Given the description of an element on the screen output the (x, y) to click on. 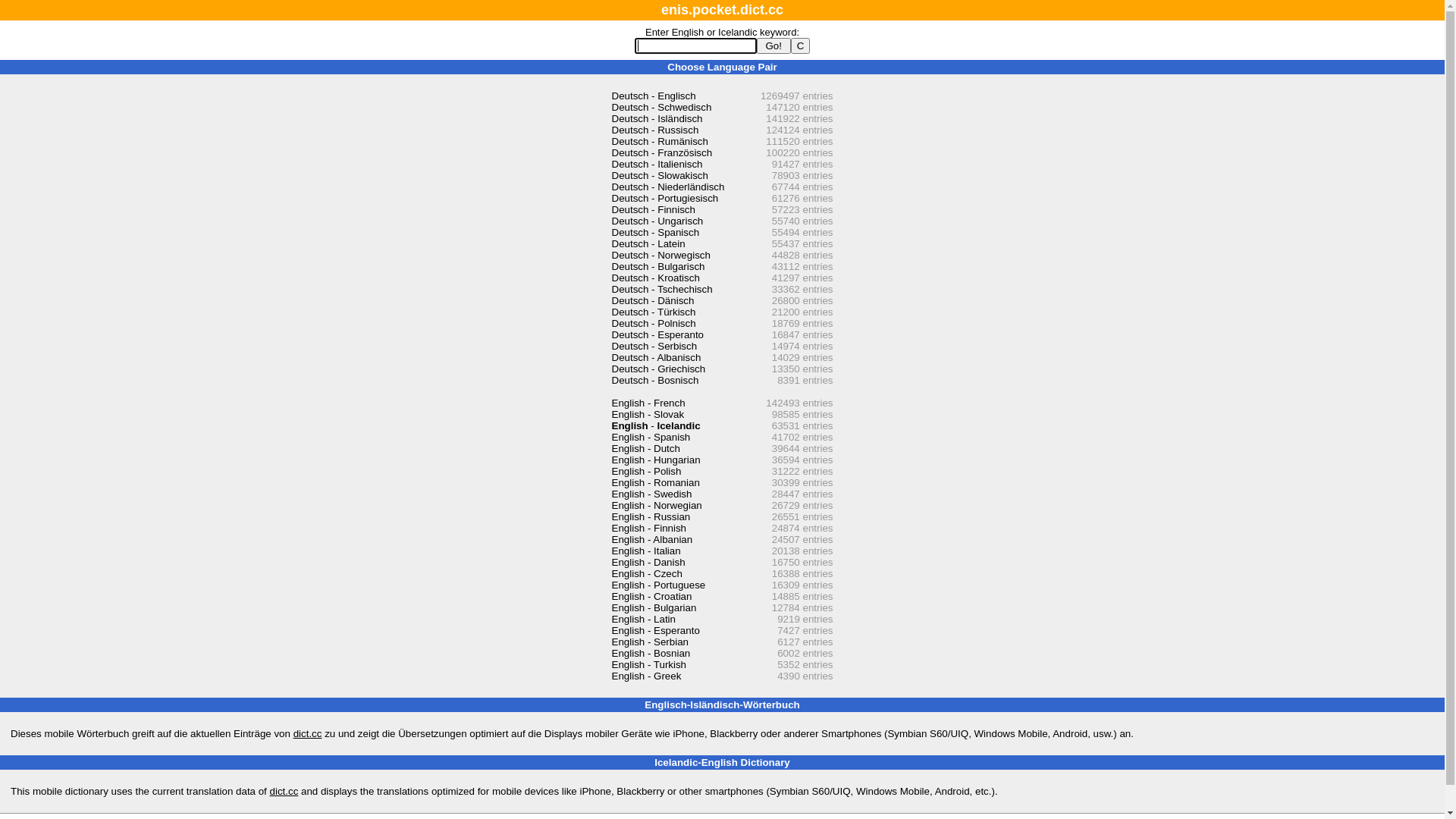
English - Italian Element type: text (645, 550)
Deutsch - Kroatisch Element type: text (655, 277)
Deutsch - Slowakisch Element type: text (659, 175)
Deutsch - Finnisch Element type: text (652, 209)
English - Turkish Element type: text (648, 664)
English - Hungarian Element type: text (655, 459)
Deutsch - Griechisch Element type: text (658, 368)
English - Polish Element type: text (645, 470)
Deutsch - Bulgarisch Element type: text (657, 266)
Deutsch - Italienisch Element type: text (656, 163)
Deutsch - Latein Element type: text (647, 243)
English - Romanian Element type: text (655, 482)
Deutsch - Serbisch Element type: text (653, 345)
English - Dutch Element type: text (645, 448)
Deutsch - Englisch Element type: text (653, 95)
English - Albanian Element type: text (651, 539)
dict.cc Element type: text (283, 791)
Deutsch - Portugiesisch Element type: text (664, 197)
English - Esperanto Element type: text (655, 630)
English - Czech Element type: text (646, 573)
Deutsch - Russisch Element type: text (654, 129)
 Go!  Element type: text (773, 45)
Deutsch - Norwegisch Element type: text (660, 254)
English - Bosnian Element type: text (650, 652)
English - Norwegian Element type: text (656, 505)
English - Greek Element type: text (645, 675)
English - Portuguese Element type: text (658, 584)
Deutsch - Bosnisch Element type: text (654, 379)
enis.pocket.dict.cc Element type: text (722, 9)
English - French Element type: text (647, 402)
C Element type: text (800, 45)
English - Icelandic Element type: text (655, 425)
English - Croatian Element type: text (651, 596)
Deutsch - Spanisch Element type: text (655, 232)
English - Slovak Element type: text (647, 414)
Deutsch - Albanisch Element type: text (655, 357)
English - Spanish Element type: text (650, 436)
Deutsch - Esperanto Element type: text (657, 334)
Deutsch - Polnisch Element type: text (653, 323)
Deutsch - Schwedisch Element type: text (661, 106)
English - Latin Element type: text (642, 618)
Deutsch - Tschechisch Element type: text (661, 288)
English - Finnish Element type: text (648, 527)
English - Bulgarian Element type: text (653, 607)
English - Danish Element type: text (647, 561)
English - Serbian Element type: text (649, 641)
English - Russian Element type: text (650, 516)
English - Swedish Element type: text (651, 493)
dict.cc Element type: text (307, 733)
Deutsch - Ungarisch Element type: text (656, 220)
